Given the description of an element on the screen output the (x, y) to click on. 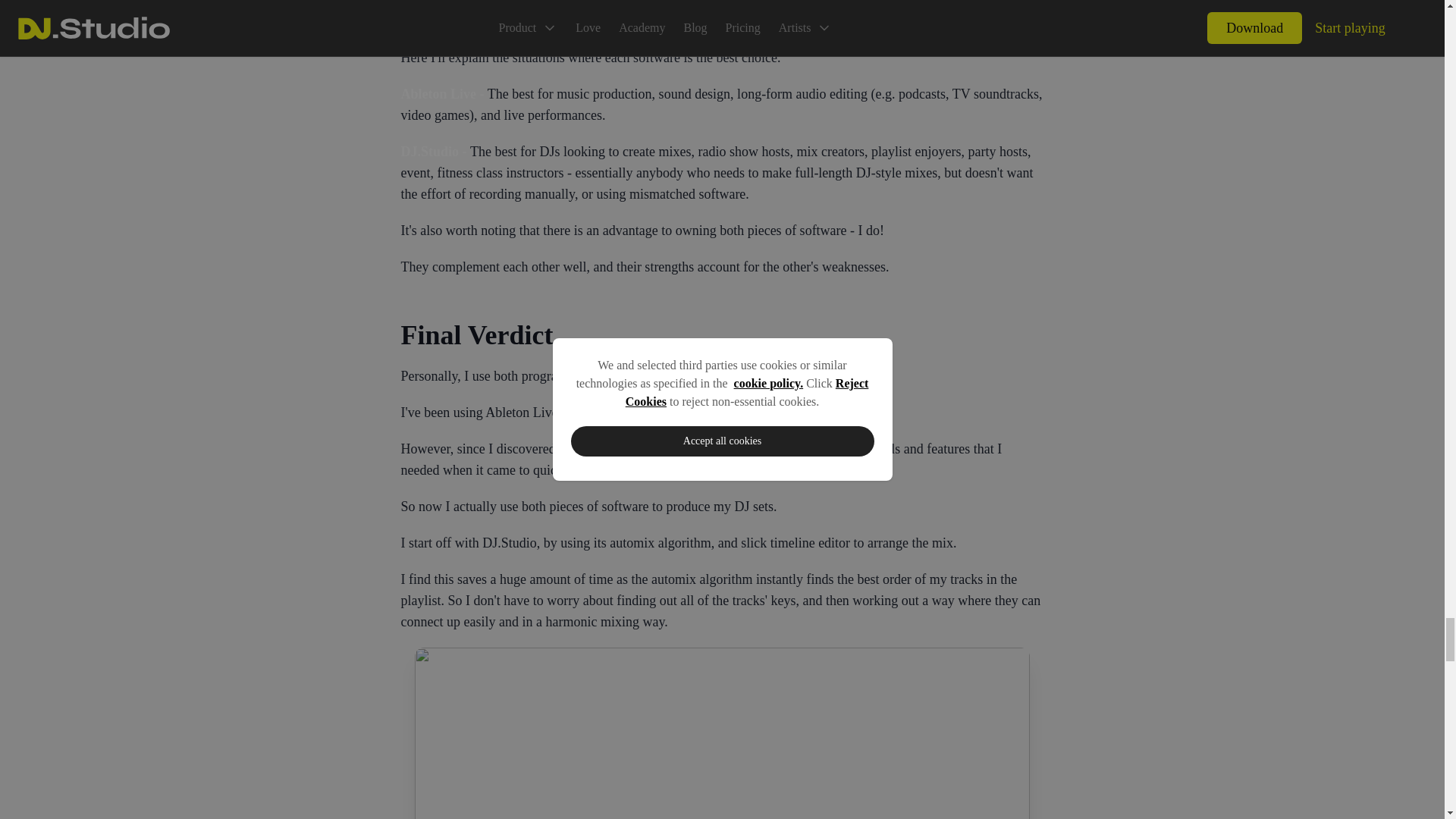
Best For? (721, 17)
final verdicty.png (721, 733)
Final Verdict (721, 335)
